Given the description of an element on the screen output the (x, y) to click on. 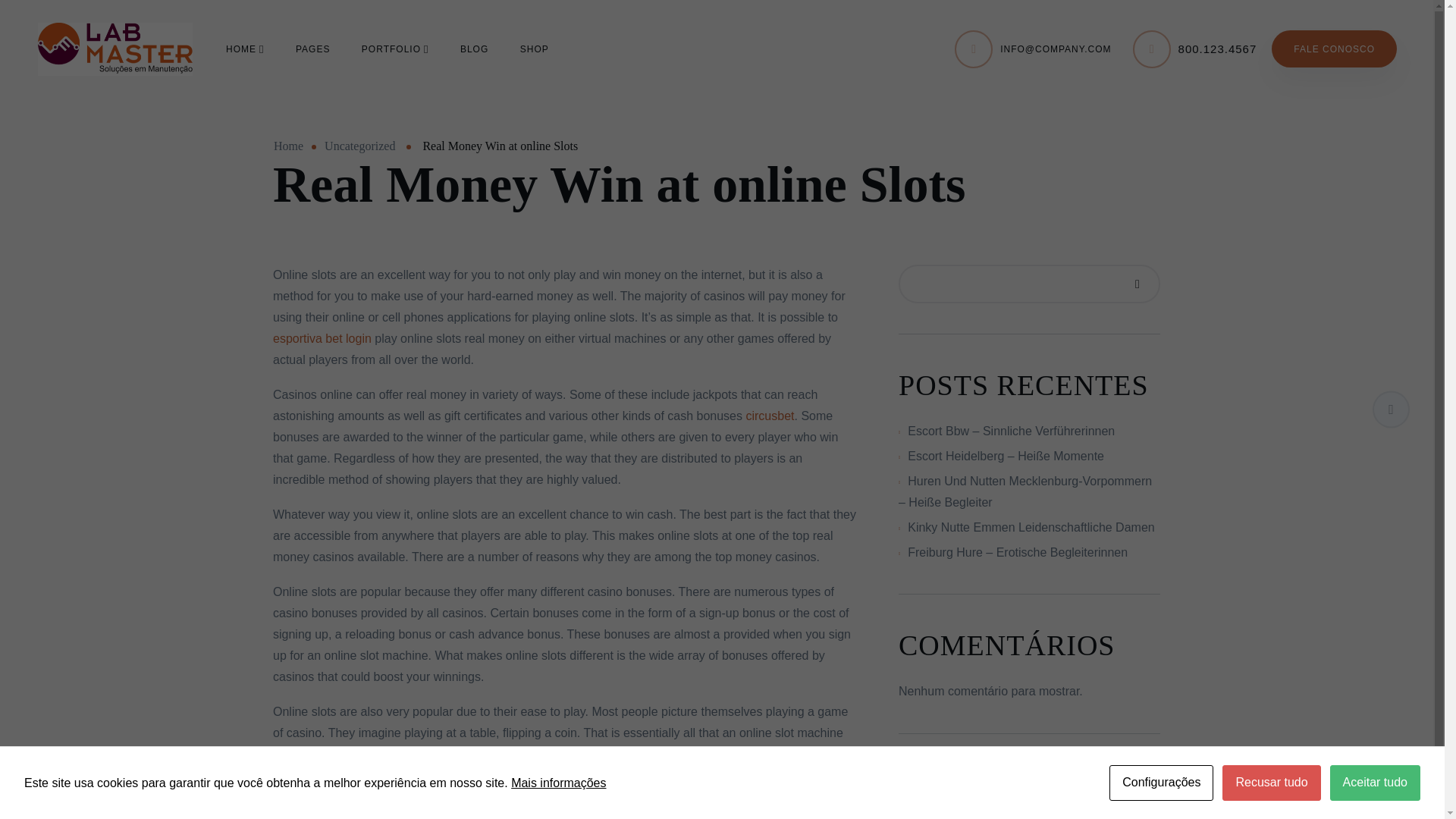
Home (288, 145)
FALE CONOSCO (1333, 48)
PAGES (312, 48)
circusbet (769, 415)
HOME (244, 48)
SHOP (533, 48)
lab (114, 49)
esportiva bet login (322, 338)
Uncategorized (359, 145)
PORTFOLIO (395, 48)
800.123.4567 (1217, 48)
Kinky Nutte Emmen Leidenschaftliche Damen (1030, 526)
BLOG (473, 48)
